Given the description of an element on the screen output the (x, y) to click on. 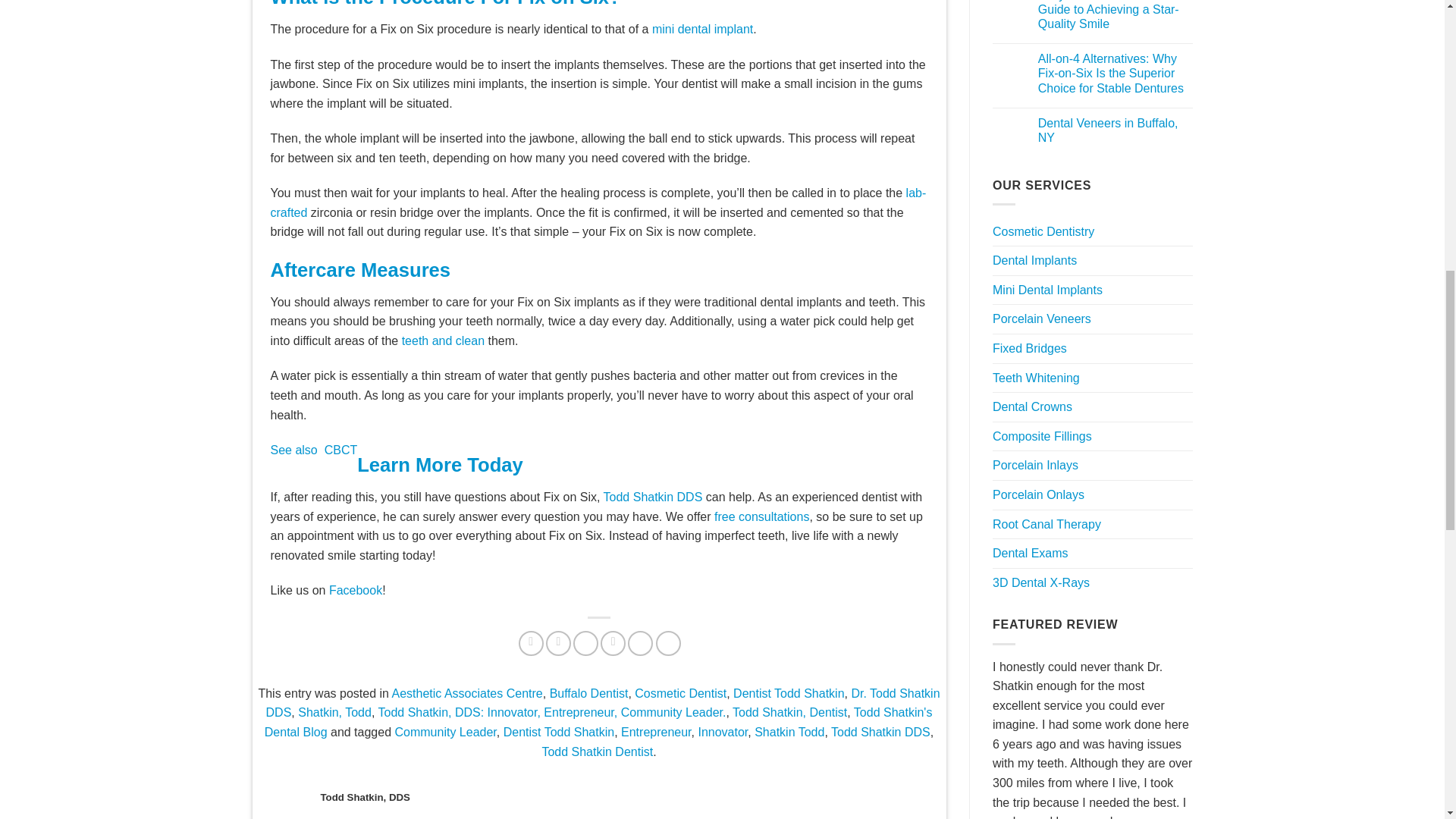
Share on LinkedIn (639, 643)
Share on Tumblr (668, 643)
Email to a Friend (585, 643)
Share on Facebook (530, 643)
Pin on Pinterest (612, 643)
Share on Twitter (558, 643)
